Given the description of an element on the screen output the (x, y) to click on. 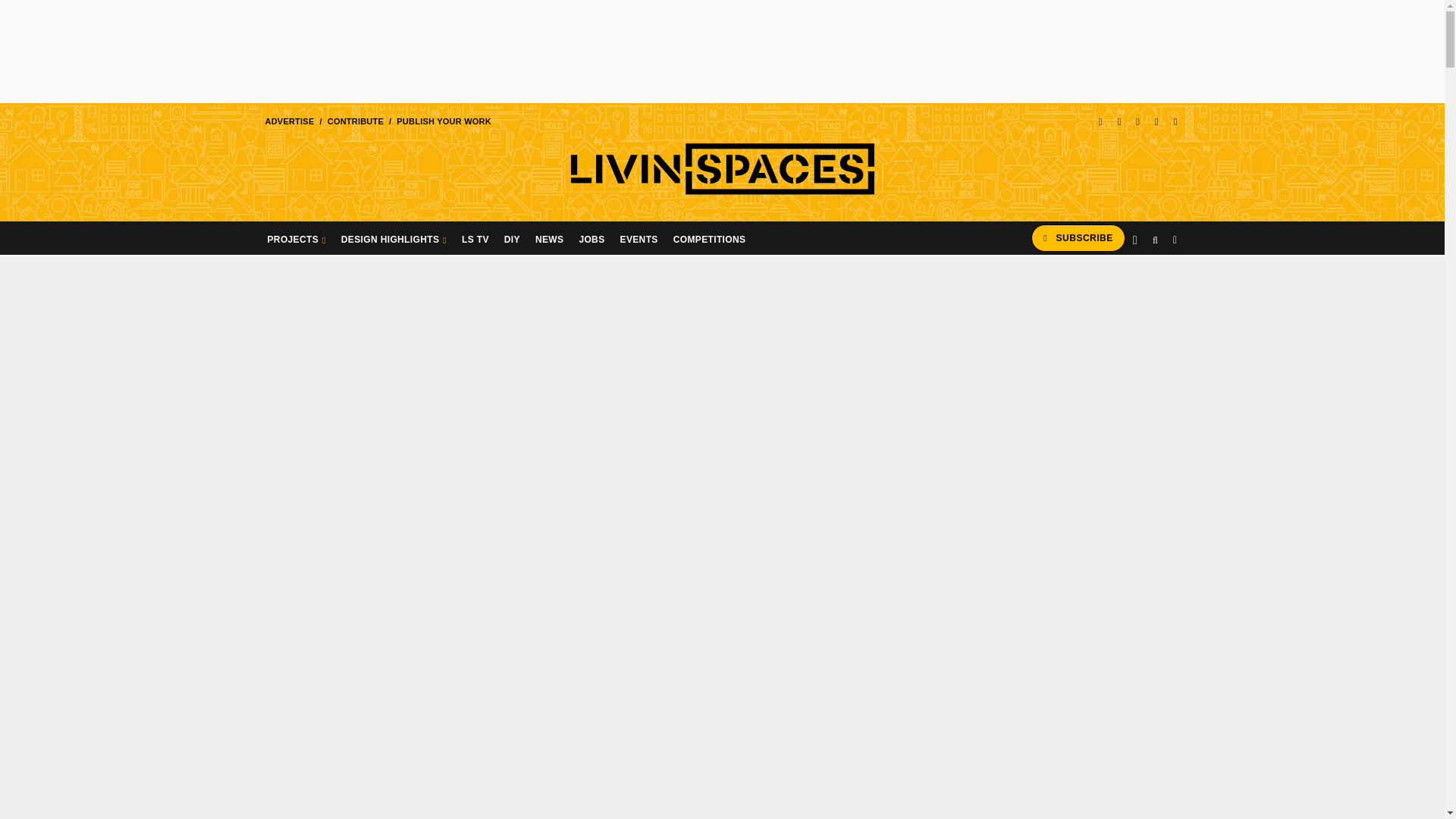
DESIGN HIGHLIGHTS (393, 237)
LS TV (475, 237)
ADVERTISE (288, 120)
CONTRIBUTE (354, 120)
PUBLISH YOUR WORK (443, 120)
PROJECTS (296, 237)
